Given the description of an element on the screen output the (x, y) to click on. 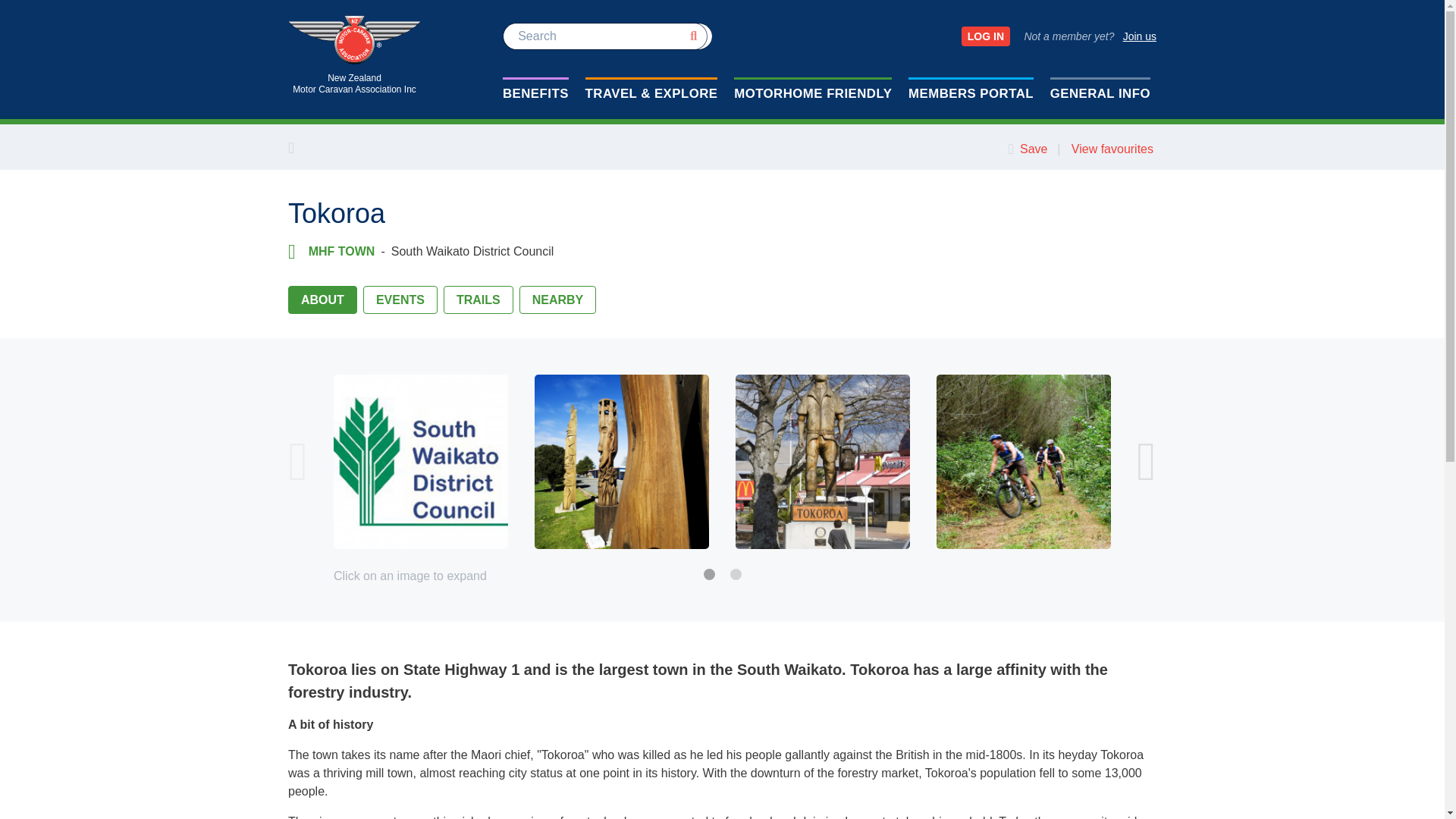
LOG IN (985, 36)
Join us (354, 56)
MOTORHOME FRIENDLY (1139, 36)
BENEFITS (813, 93)
